Given the description of an element on the screen output the (x, y) to click on. 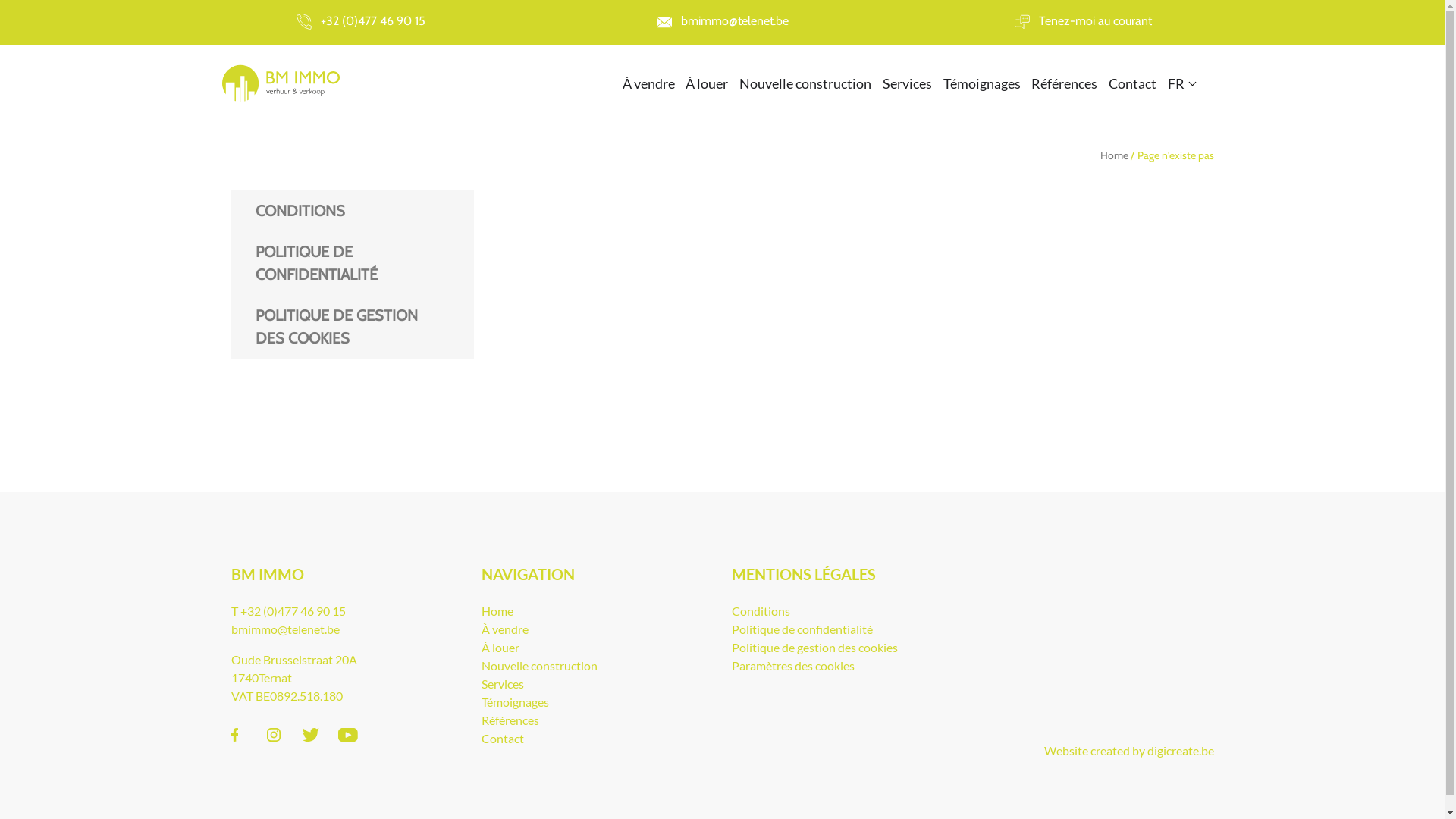
Politique de gestion des cookies Element type: text (814, 647)
bmimmo@telenet.be Element type: text (721, 21)
FR Element type: text (1181, 82)
Contact Element type: text (1132, 82)
POLITIQUE DE GESTION DES COOKIES Element type: text (351, 326)
Contact Element type: text (501, 738)
Home Element type: text (496, 610)
CONDITIONS Element type: text (351, 210)
T +32 (0)477 46 90 15 Element type: text (287, 610)
Nouvelle construction Element type: text (538, 665)
Tenez-moi au courant Element type: text (1083, 21)
Nouvelle construction Element type: text (805, 82)
Services Element type: text (906, 82)
Home Element type: text (1114, 155)
Services Element type: text (501, 683)
Facebook Element type: text (237, 734)
bmimmo@telenet.be Element type: text (284, 628)
Youtube Element type: text (344, 734)
Website created by digicreate.be Element type: text (1128, 750)
+32 (0)477 46 90 15 Element type: text (360, 21)
Conditions Element type: text (760, 610)
Instagram Element type: text (273, 734)
Twitter Element type: text (309, 734)
